Given the description of an element on the screen output the (x, y) to click on. 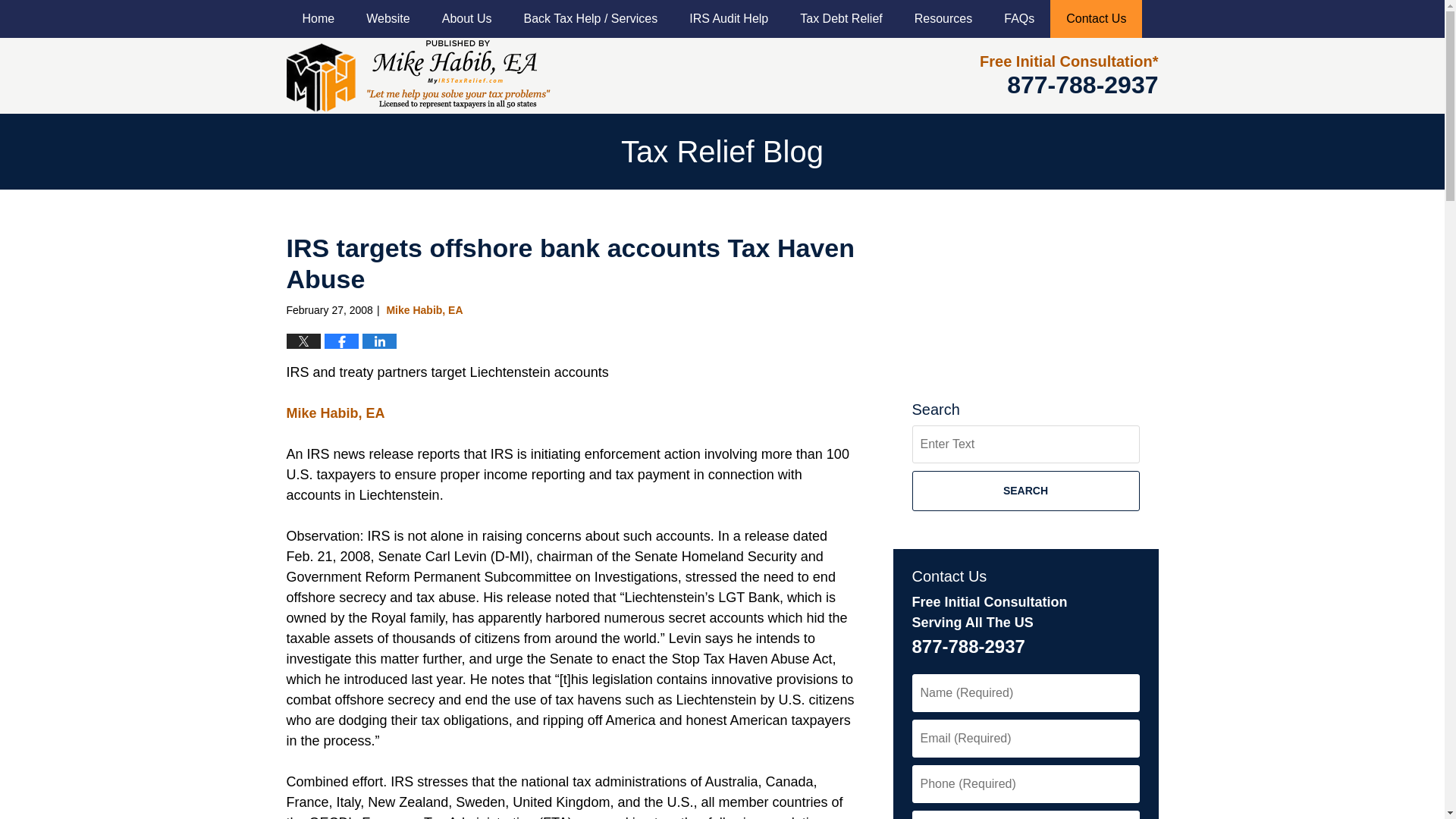
About Us (467, 18)
Contact Us (1095, 18)
FAQs (1018, 18)
IRS Audit Help (728, 18)
Home (318, 18)
Resources (943, 18)
877-788-2937 (1082, 84)
Tax Debt Relief (841, 18)
Tax Relief Blog (418, 75)
Mike Habib, EA (335, 412)
